Given the description of an element on the screen output the (x, y) to click on. 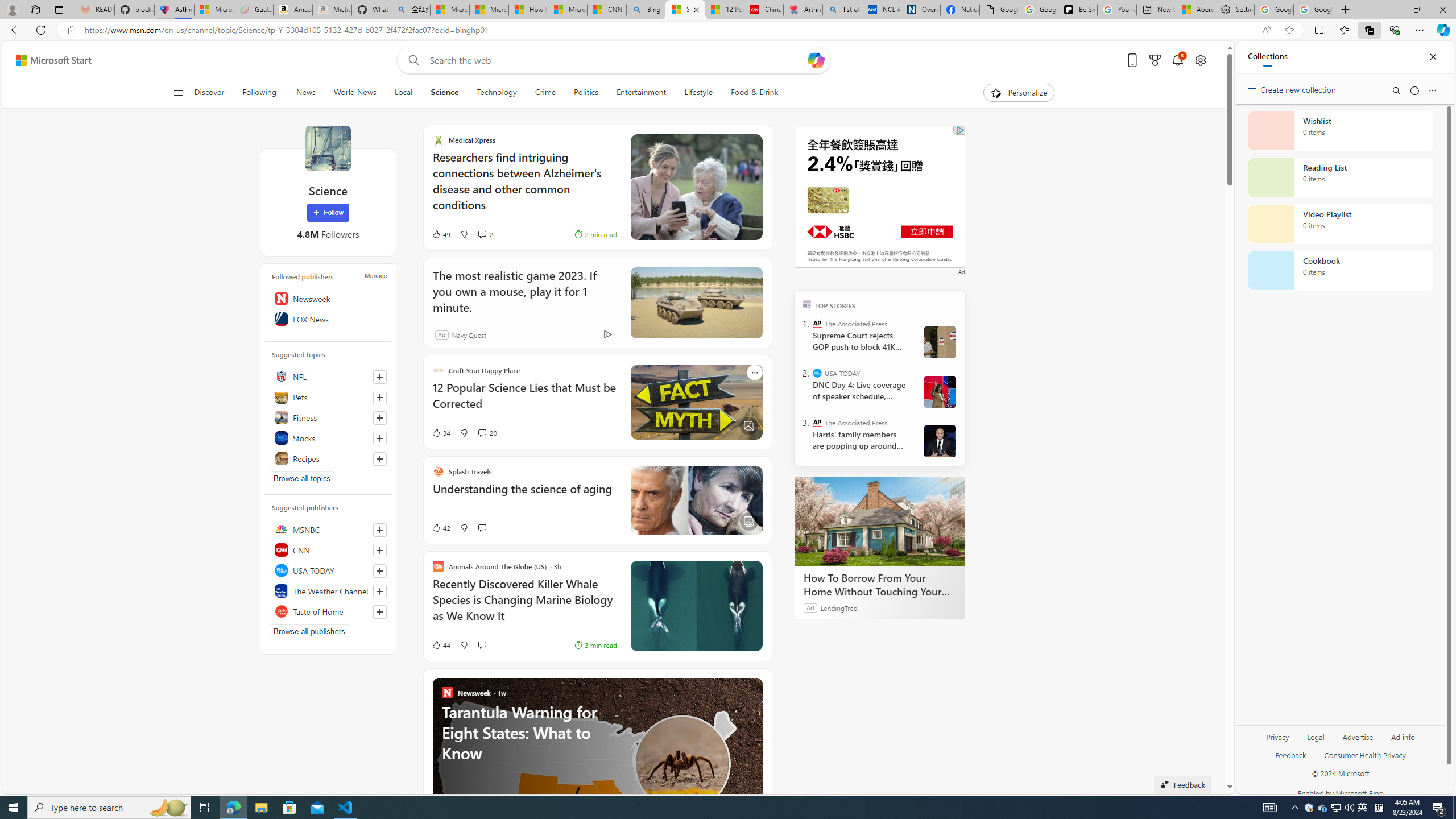
34 Like (440, 432)
Video Playlist collection, 0 items (1339, 223)
The Associated Press (816, 422)
Create new collection (1293, 87)
Credit: Andrea Piacquadio from Pexels (683, 187)
The Weather Channel (327, 590)
How To Borrow From Your Home Without Touching Your Mortgage (879, 584)
Follow (328, 212)
